Given the description of an element on the screen output the (x, y) to click on. 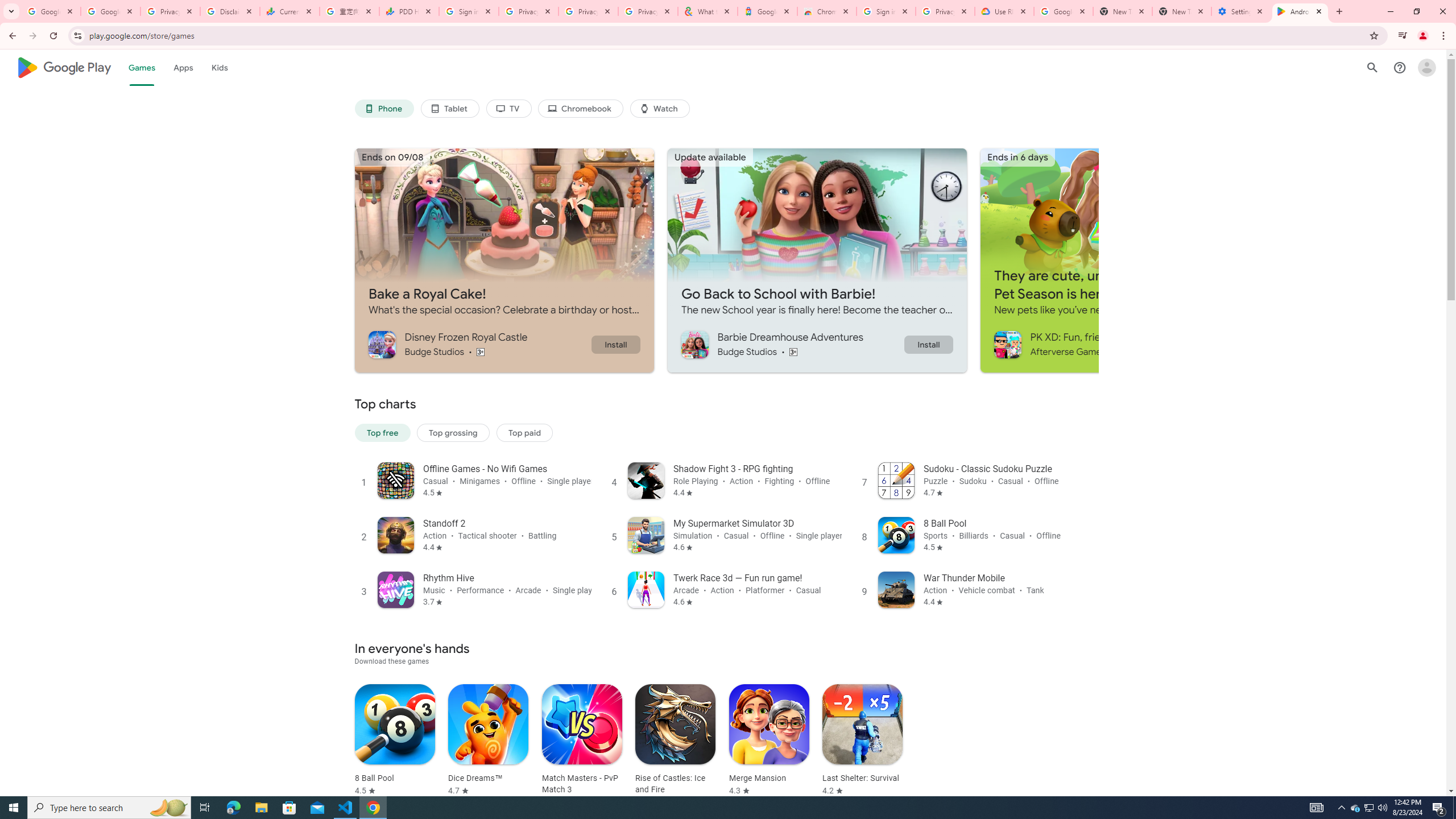
Google Play logo (64, 67)
Help Center (1399, 67)
PDD Holdings Inc - ADR (PDD) Price & News - Google Finance (409, 11)
Top grossing (452, 432)
Last Shelter: Survival Rated 4.2 stars out of five stars (862, 739)
Chrome Web Store - Color themes by Chrome (826, 11)
New Tab (1182, 11)
Settings - System (1241, 11)
Sign in - Google Accounts (885, 11)
